Given the description of an element on the screen output the (x, y) to click on. 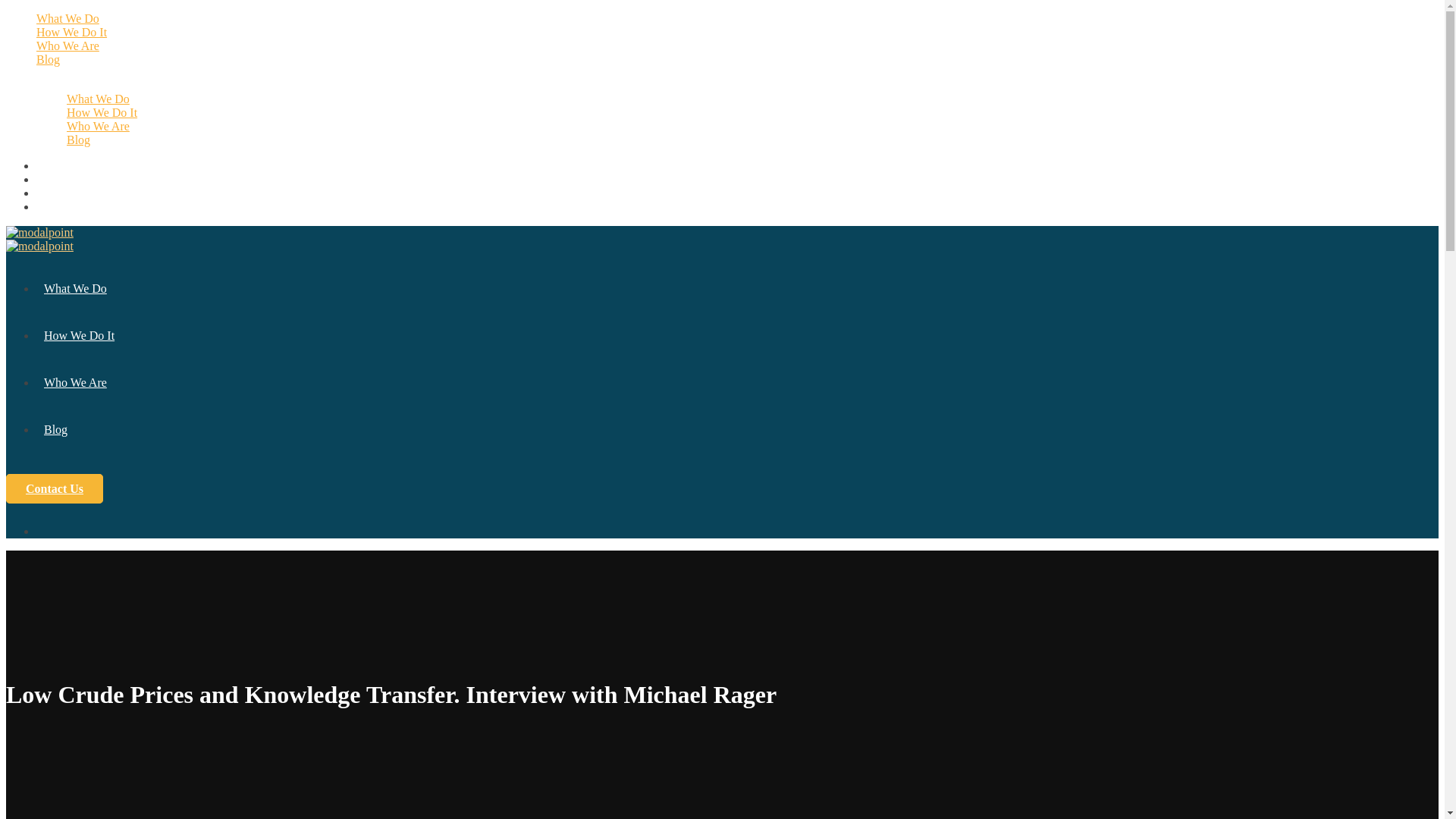
How We Do It (79, 335)
How We Do It (101, 112)
Who We Are (67, 45)
Blog (54, 429)
Contact Us (54, 488)
Blog (47, 59)
What We Do (74, 287)
Who We Are (74, 382)
What We Do (97, 98)
Blog (78, 139)
What We Do (67, 18)
How We Do It (71, 31)
Who We Are (97, 125)
